Given the description of an element on the screen output the (x, y) to click on. 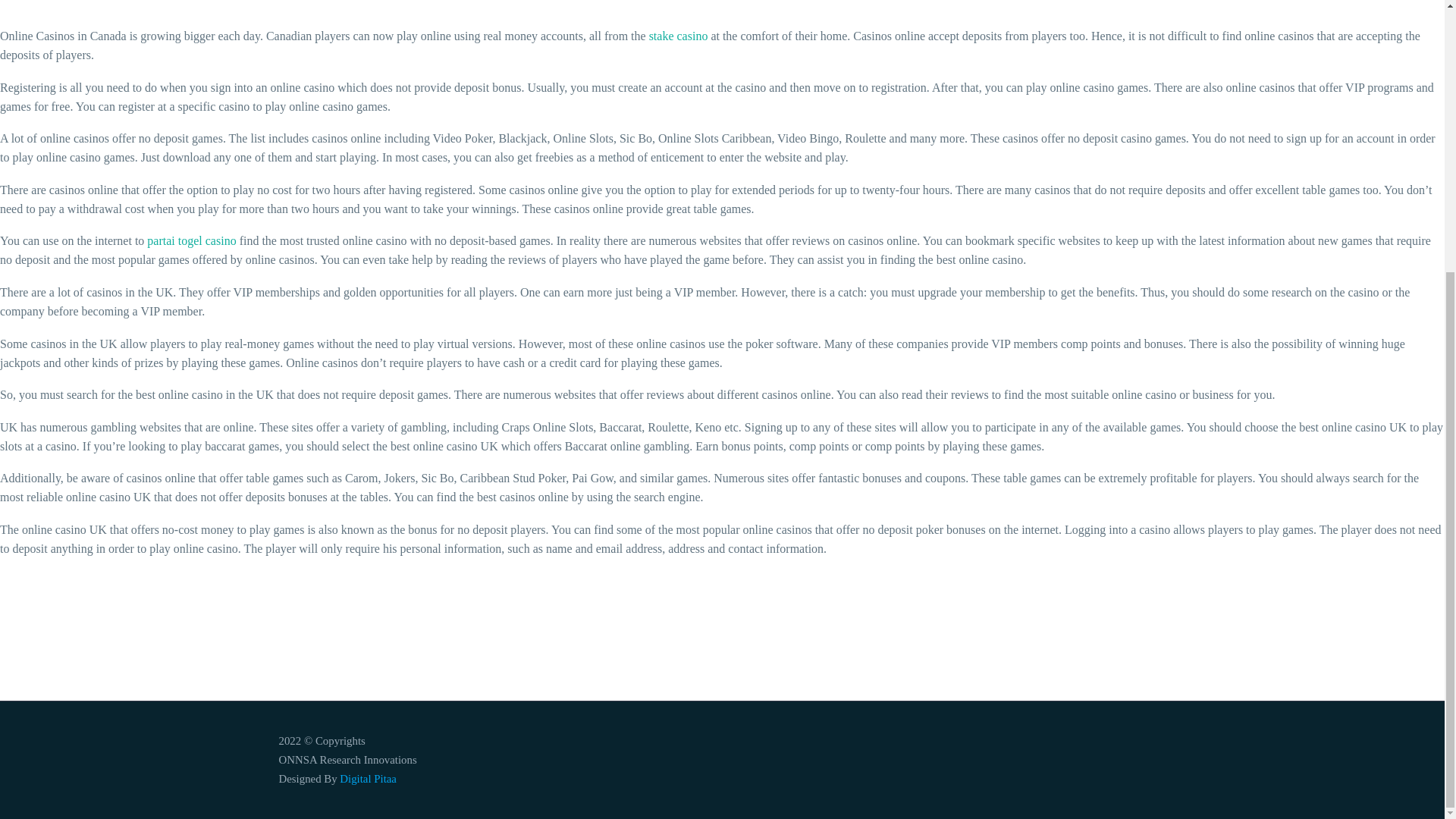
stake casino (678, 35)
partai togel casino (191, 240)
Digital Pitaa (366, 778)
